Given the description of an element on the screen output the (x, y) to click on. 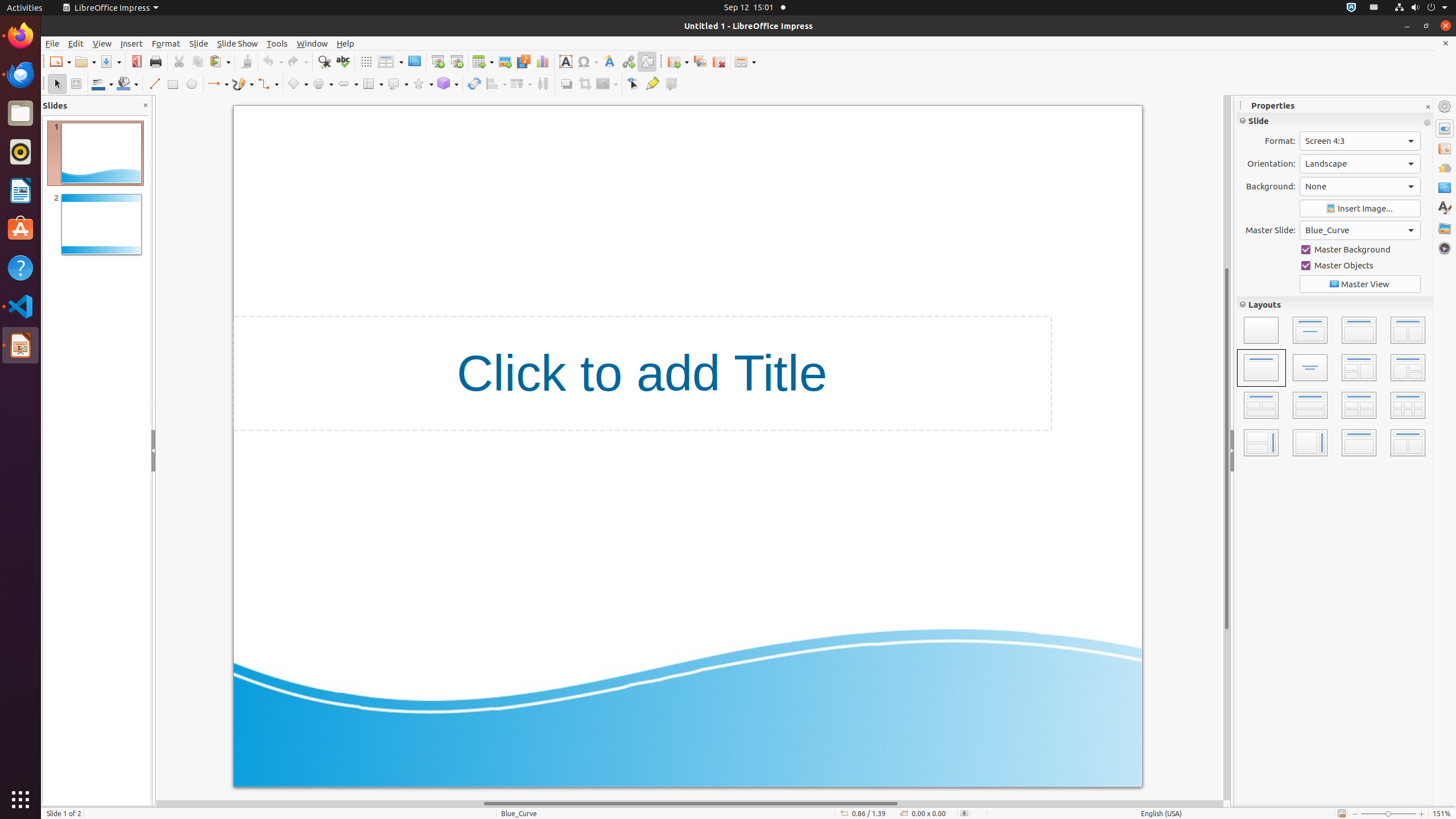
Table Element type: push-button (482, 61)
:1.21/StatusNotifierItem Element type: menu (1373, 7)
Flowchart Shapes Element type: push-button (372, 83)
Start from First Slide Element type: push-button (437, 61)
Edit Points Element type: push-button (632, 83)
